Given the description of an element on the screen output the (x, y) to click on. 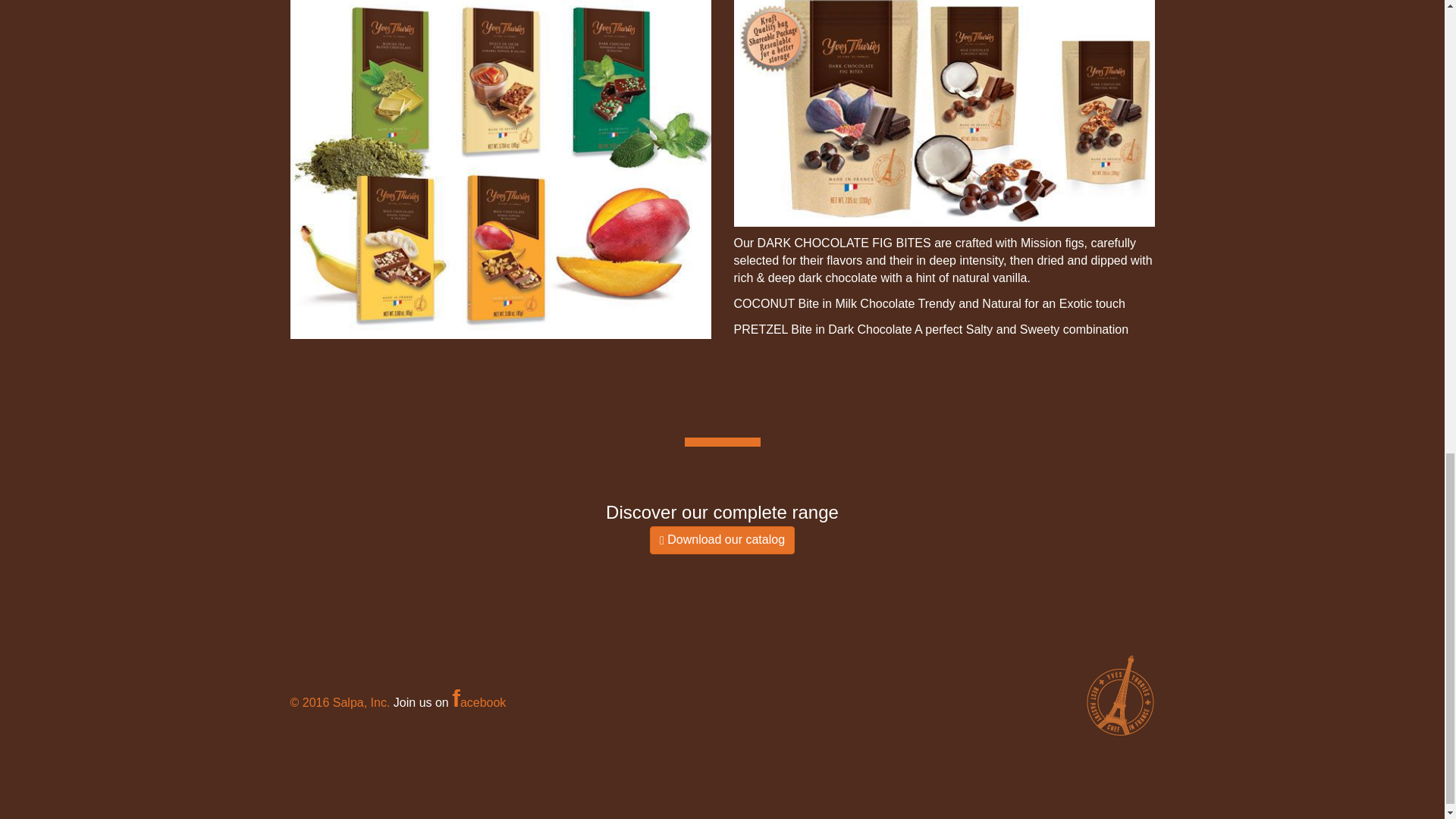
facebook (478, 702)
Download our catalog (721, 540)
